Given the description of an element on the screen output the (x, y) to click on. 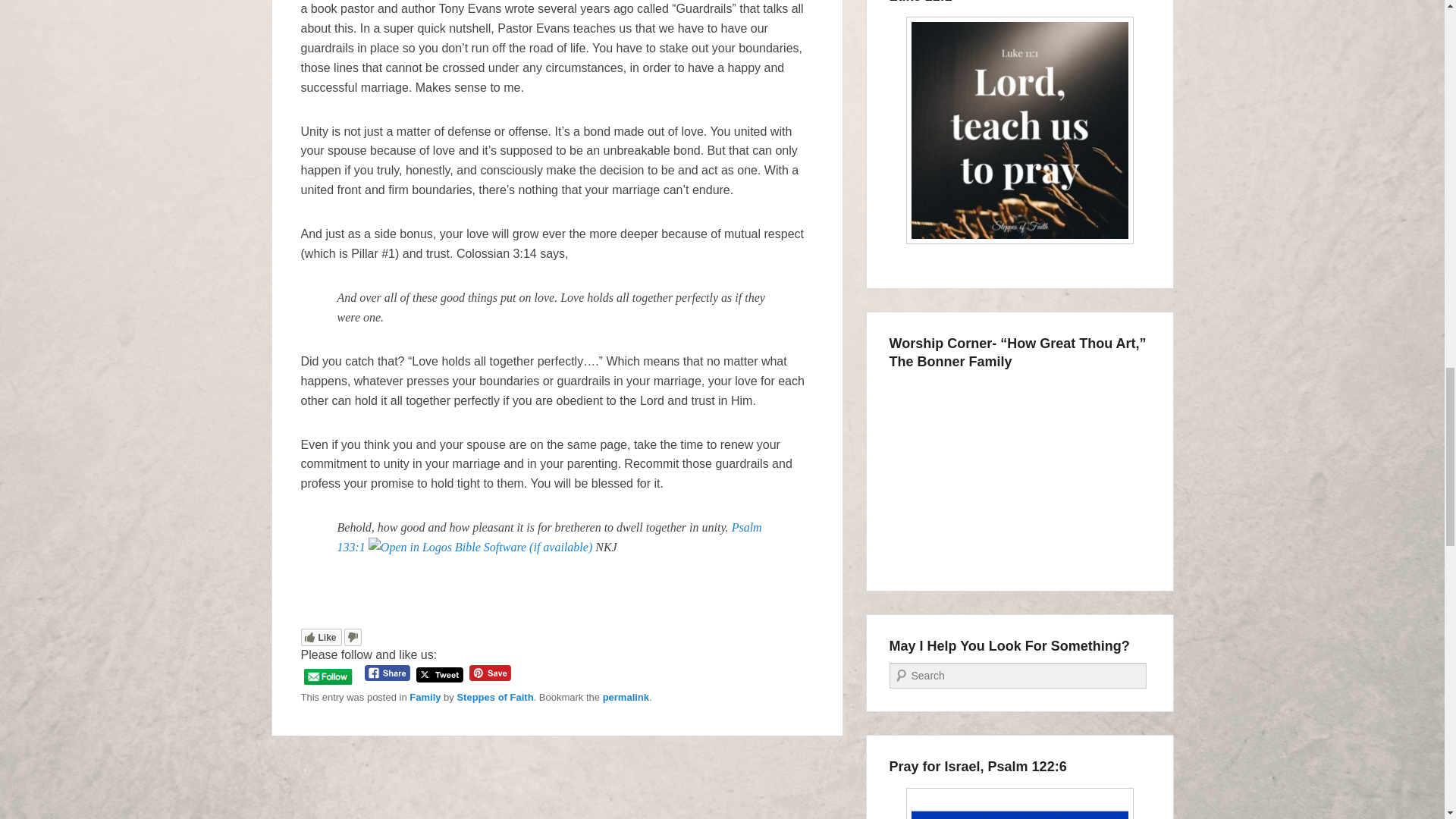
Tweet (439, 675)
Facebook Share (387, 672)
Permalink to The 5 Pillars of Marriage: Part III, Unity (625, 696)
Pin Share (489, 672)
